Given the description of an element on the screen output the (x, y) to click on. 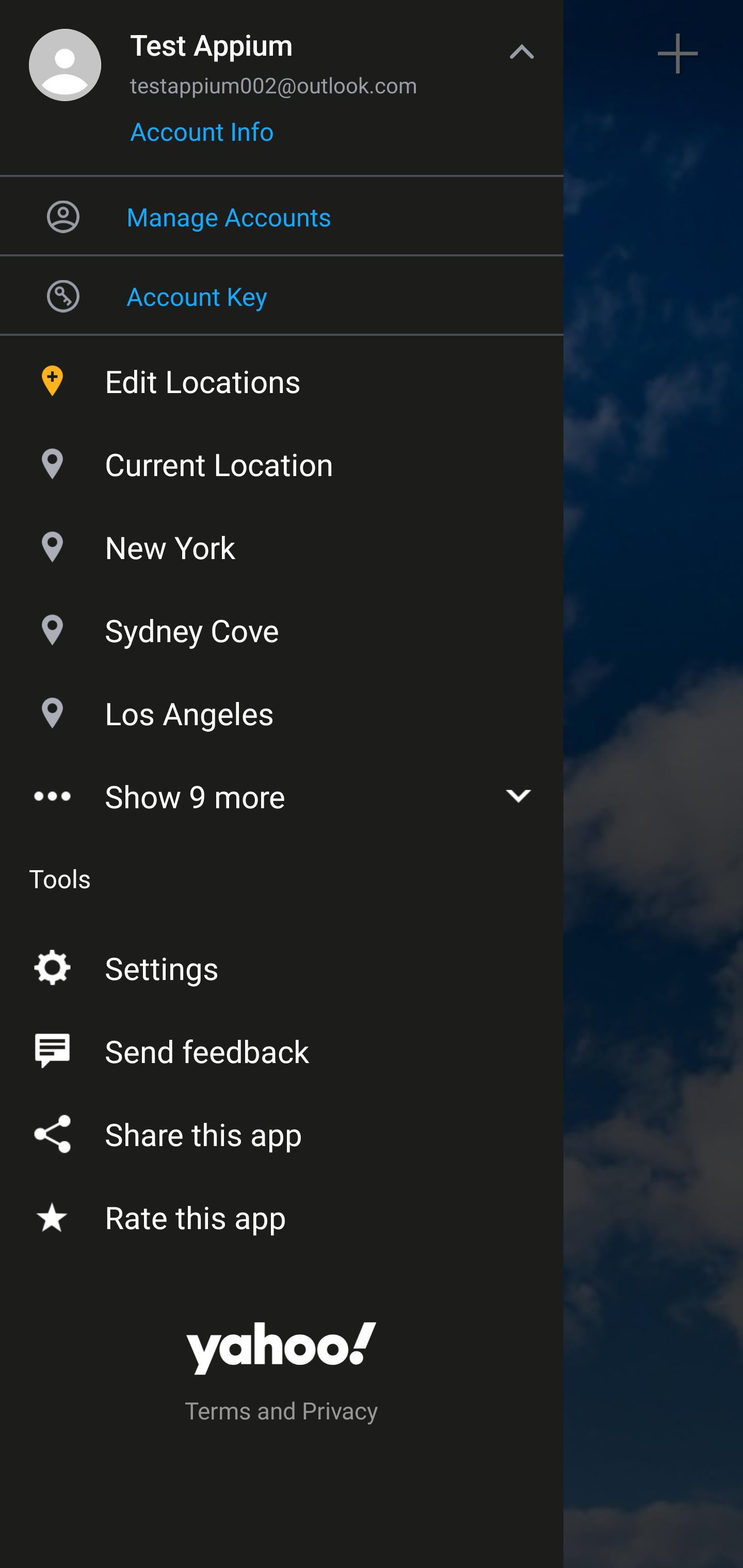
Sidebar (64, 54)
Account Info (202, 137)
Manage Accounts (281, 216)
Account Key (281, 295)
Edit Locations (281, 376)
Current Location (281, 459)
New York (281, 542)
Sydney Cove (281, 625)
Los Angeles (281, 709)
Settings (281, 963)
Send feedback (281, 1046)
Share this app (281, 1129)
Terms and Privacy Terms and privacy button (281, 1413)
